Given the description of an element on the screen output the (x, y) to click on. 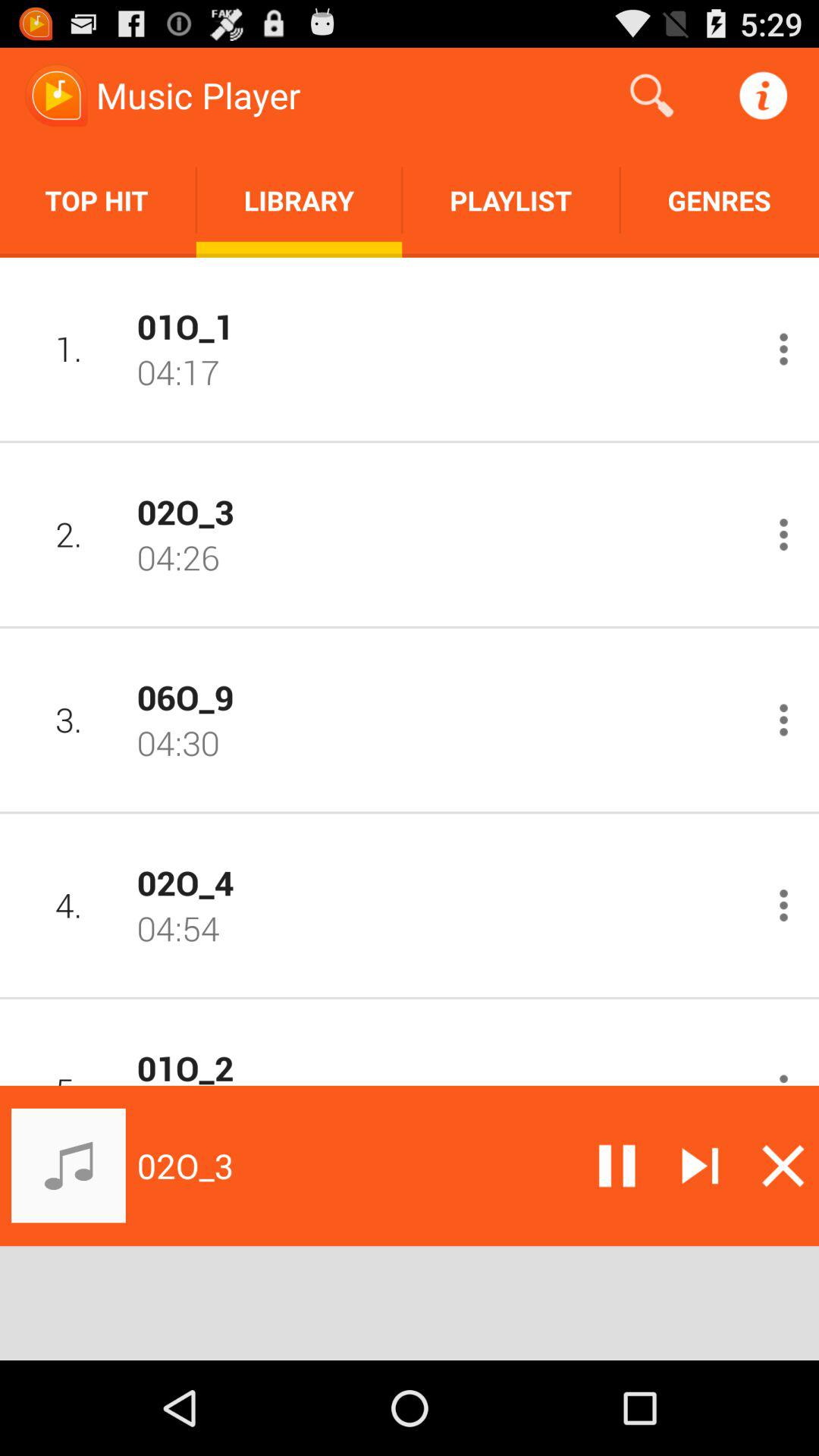
music passe app (616, 1165)
